Given the description of an element on the screen output the (x, y) to click on. 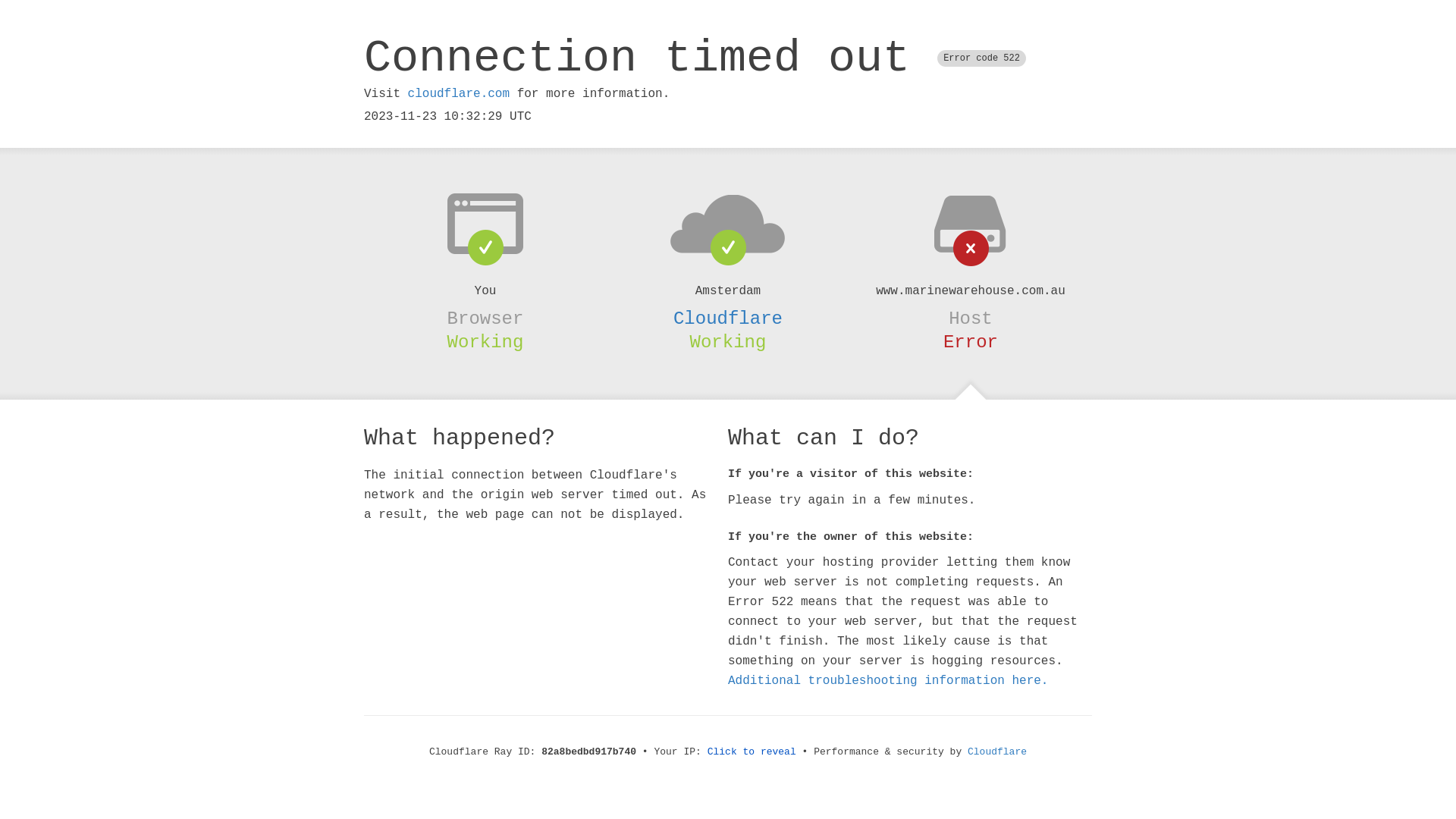
cloudflare.com Element type: text (458, 93)
Click to reveal Element type: text (751, 751)
Cloudflare Element type: text (727, 318)
Cloudflare Element type: text (996, 751)
Additional troubleshooting information here. Element type: text (888, 680)
